Given the description of an element on the screen output the (x, y) to click on. 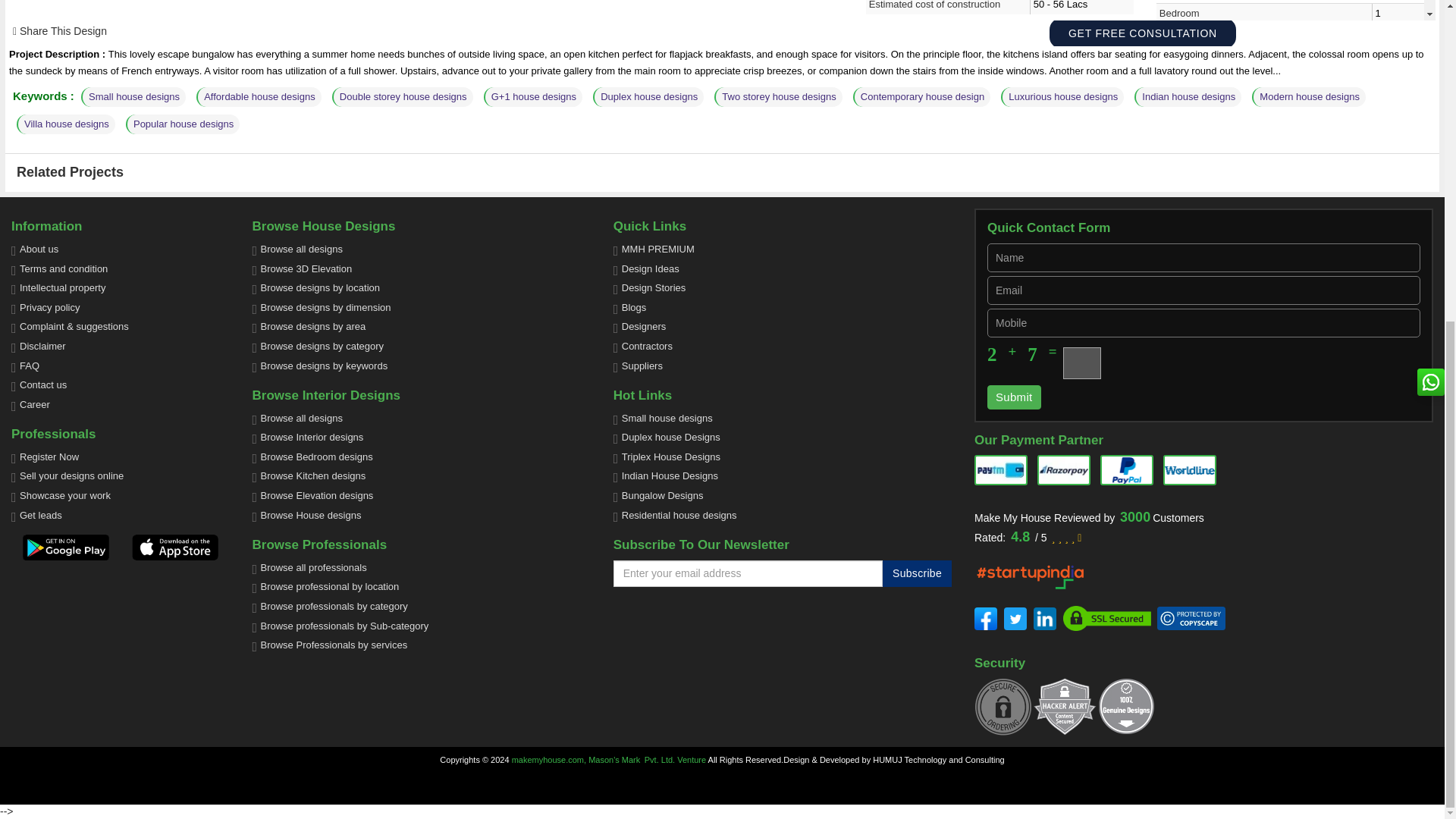
Protected by Copyscape - Do not copy content from this page. (1191, 618)
Enter sum of numbers (1081, 363)
Click to pay (1191, 469)
Click to pay (1128, 469)
Submit (1014, 396)
Click to pay (1065, 469)
Click to pay (1002, 469)
